Given the description of an element on the screen output the (x, y) to click on. 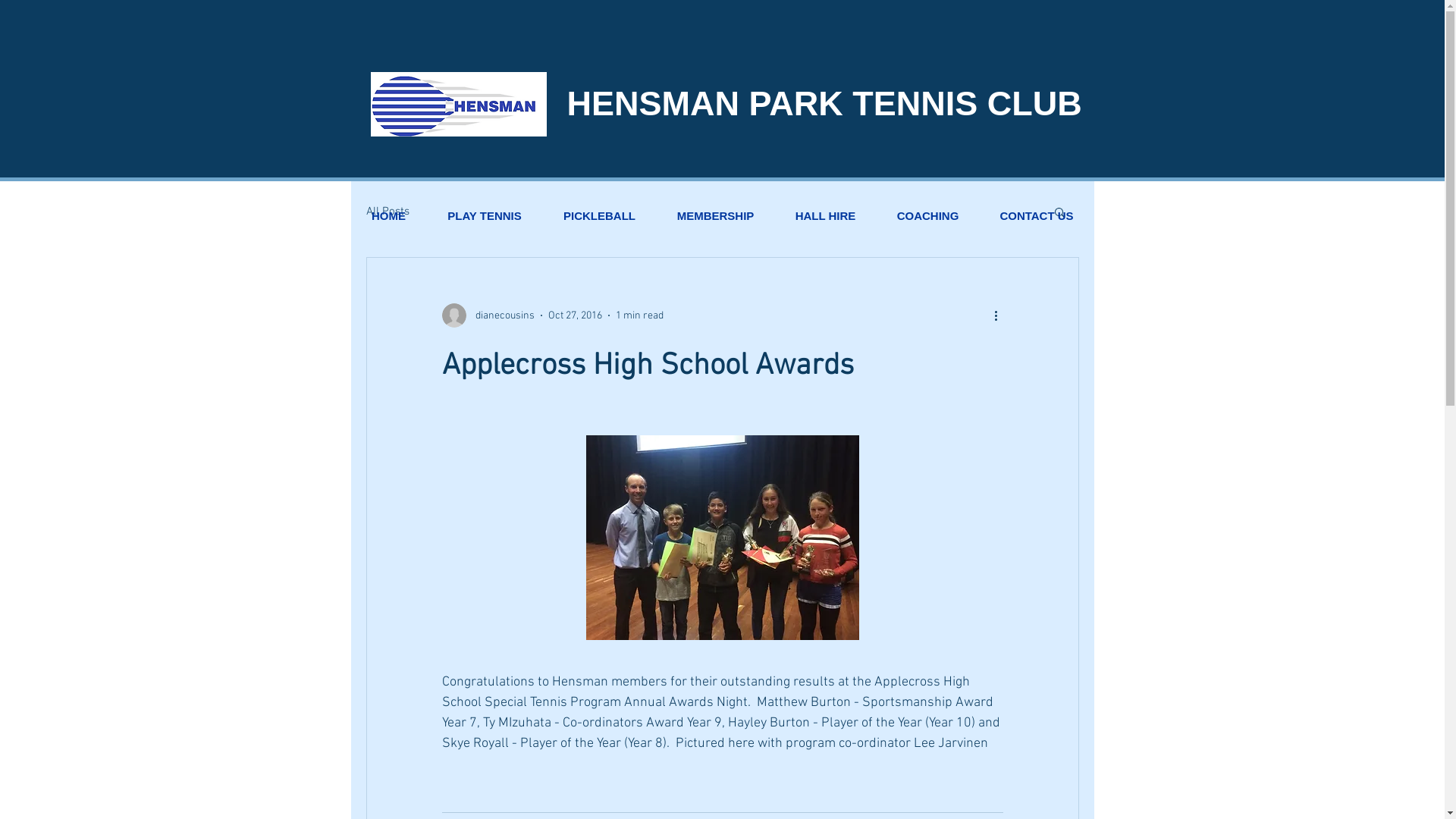
CONTACT US Element type: text (1036, 215)
MEMBERSHIP Element type: text (715, 215)
HOME Element type: text (388, 215)
PLAY TENNIS Element type: text (484, 215)
PICKLEBALL Element type: text (599, 215)
HALL HIRE Element type: text (825, 215)
dianecousins Element type: text (487, 315)
All Posts Element type: text (386, 211)
COACHING Element type: text (927, 215)
